Given the description of an element on the screen output the (x, y) to click on. 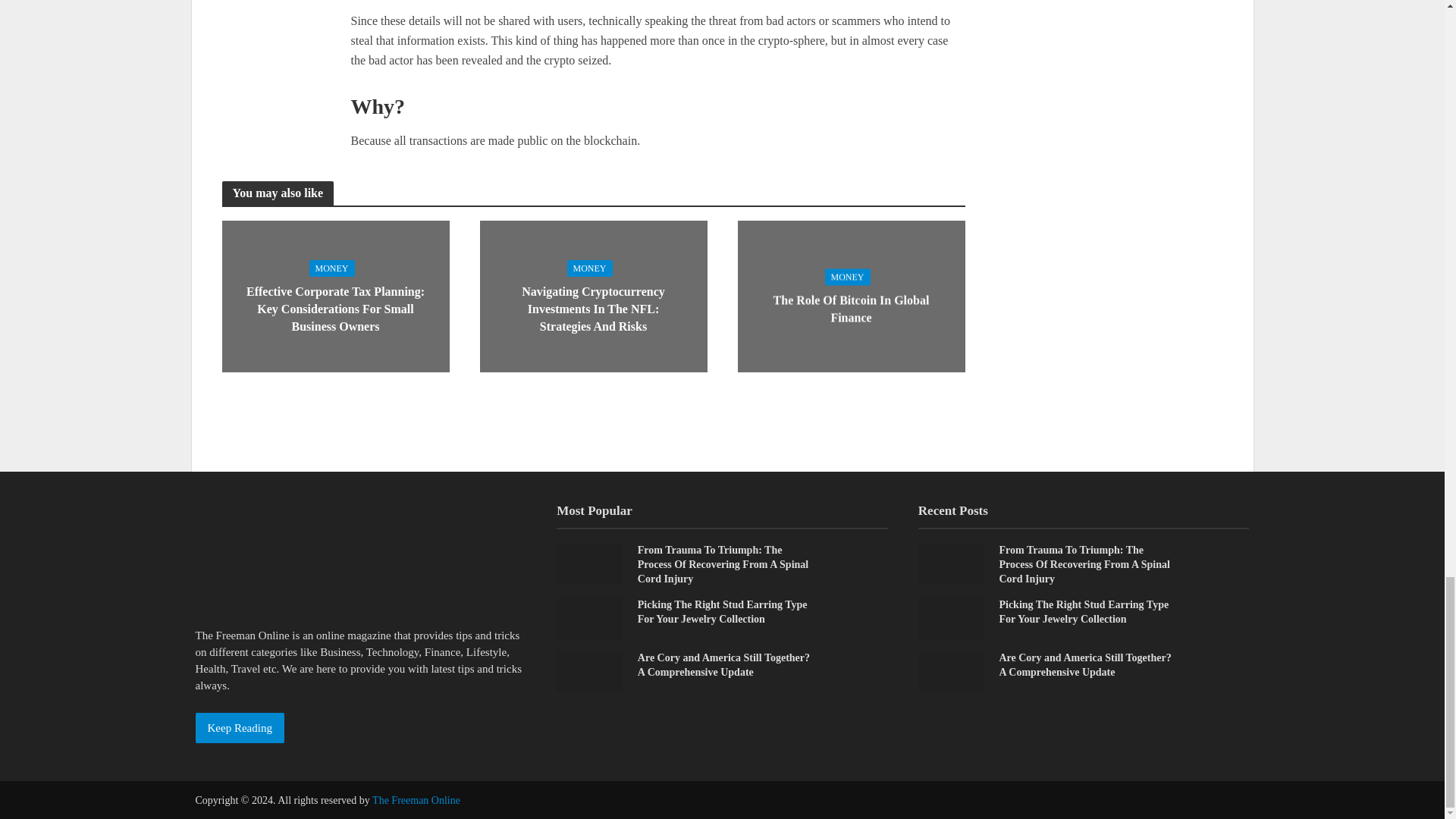
The Role Of Bitcoin In Global Finance (849, 294)
